Given the description of an element on the screen output the (x, y) to click on. 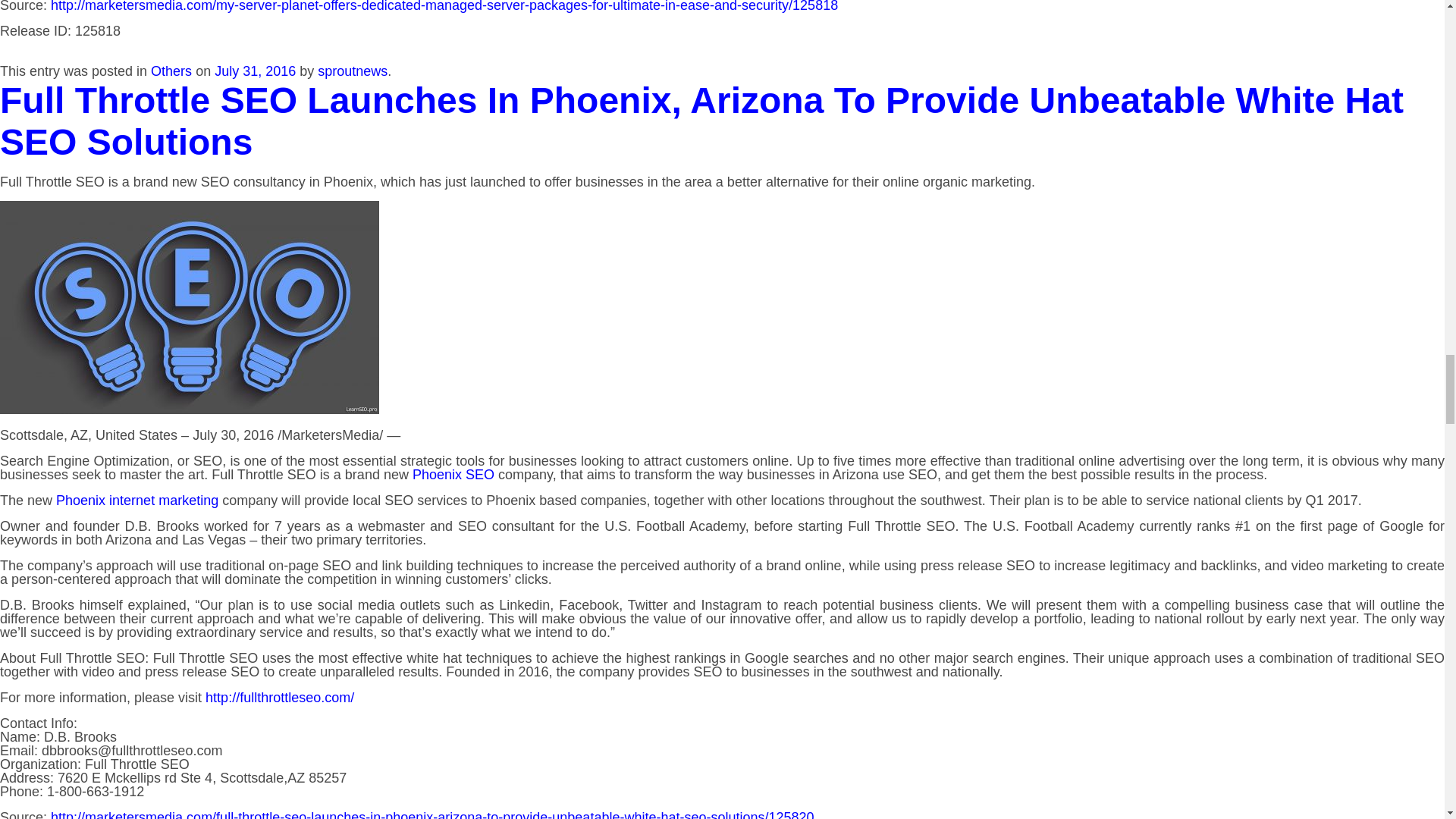
4:30 am (254, 70)
